Given the description of an element on the screen output the (x, y) to click on. 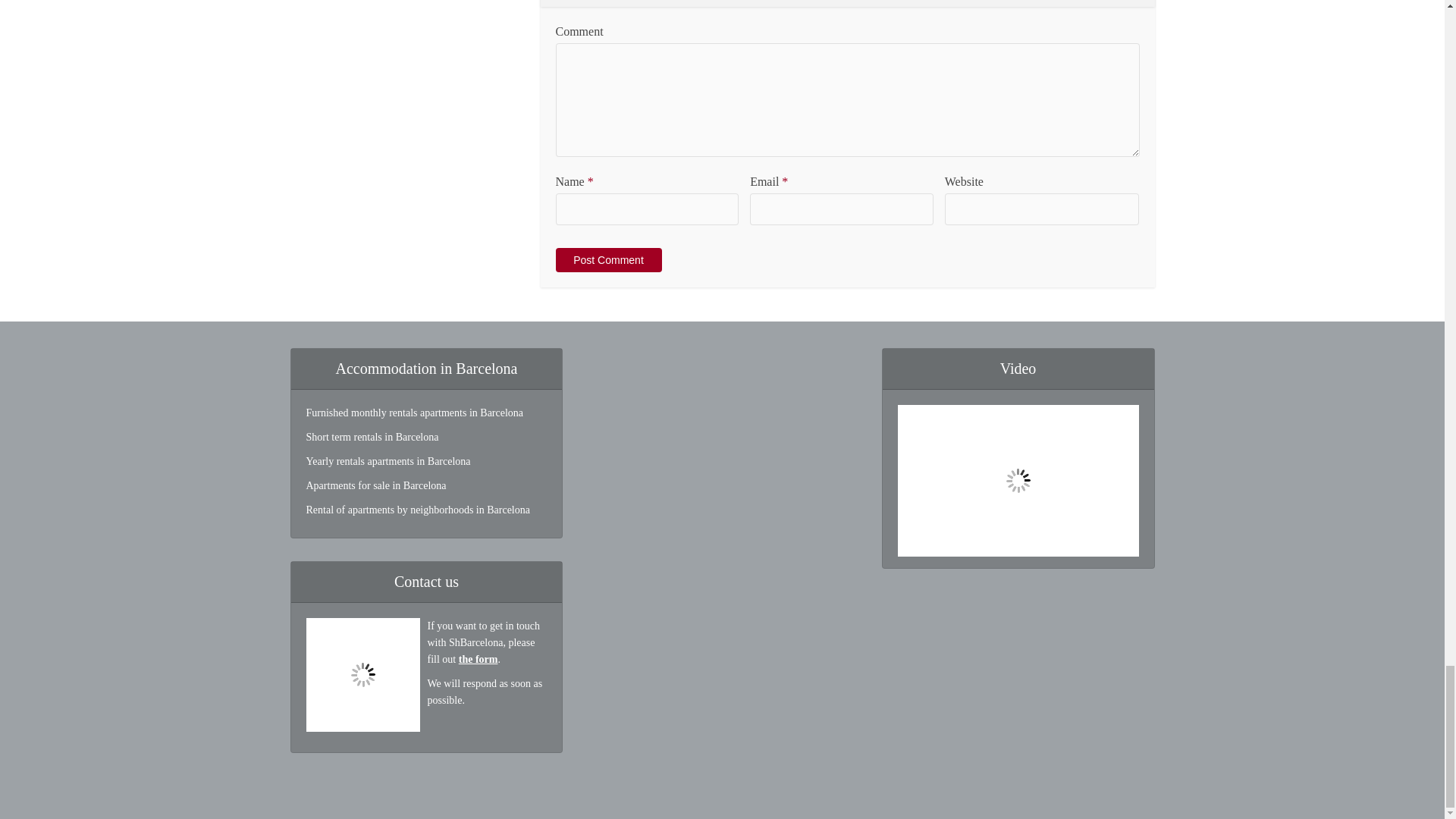
Post Comment (607, 259)
